Given the description of an element on the screen output the (x, y) to click on. 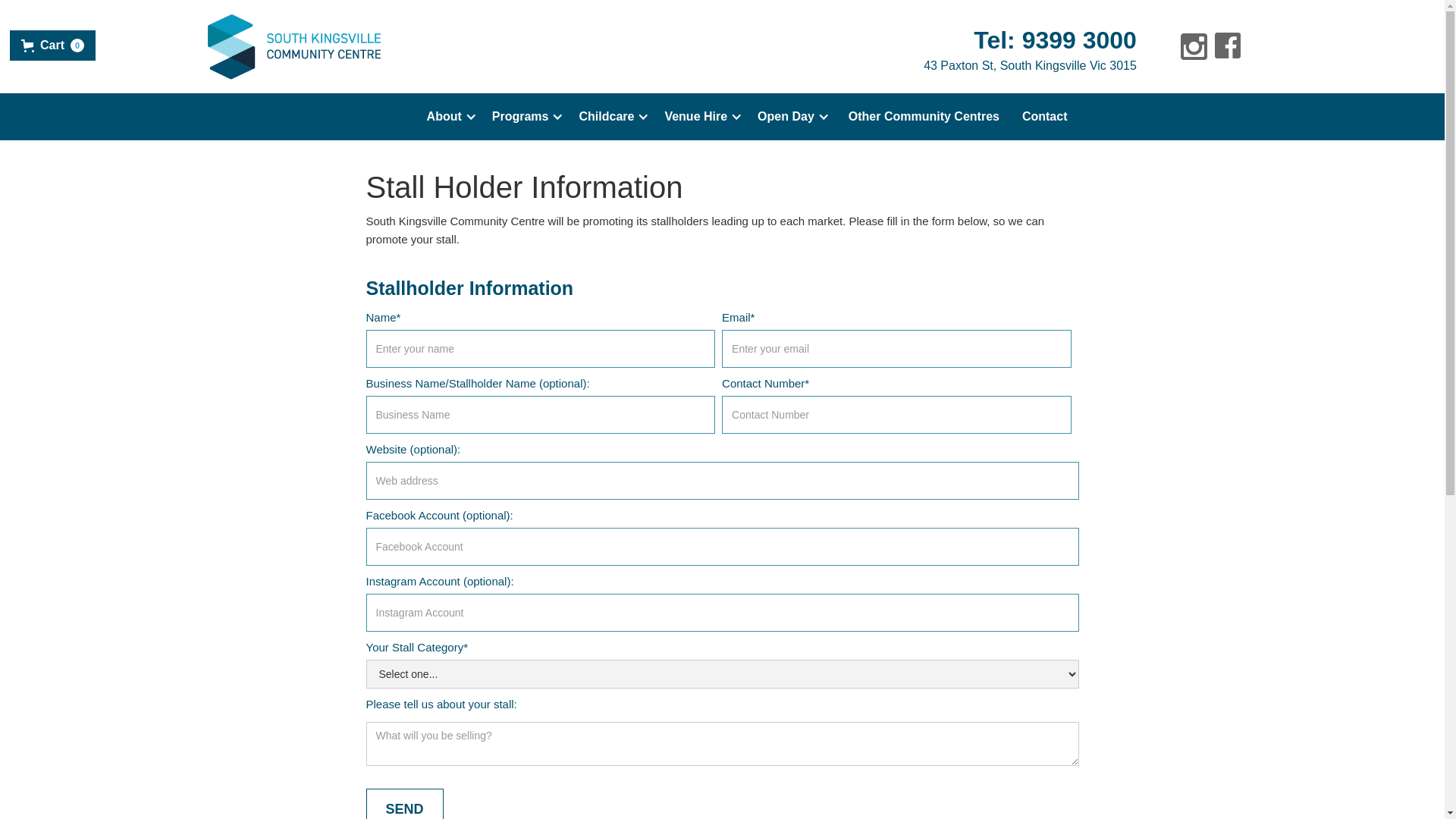
Other Community Centres Element type: text (923, 116)
Contact Element type: text (1044, 116)
Cart
0 Element type: text (52, 45)
